Given the description of an element on the screen output the (x, y) to click on. 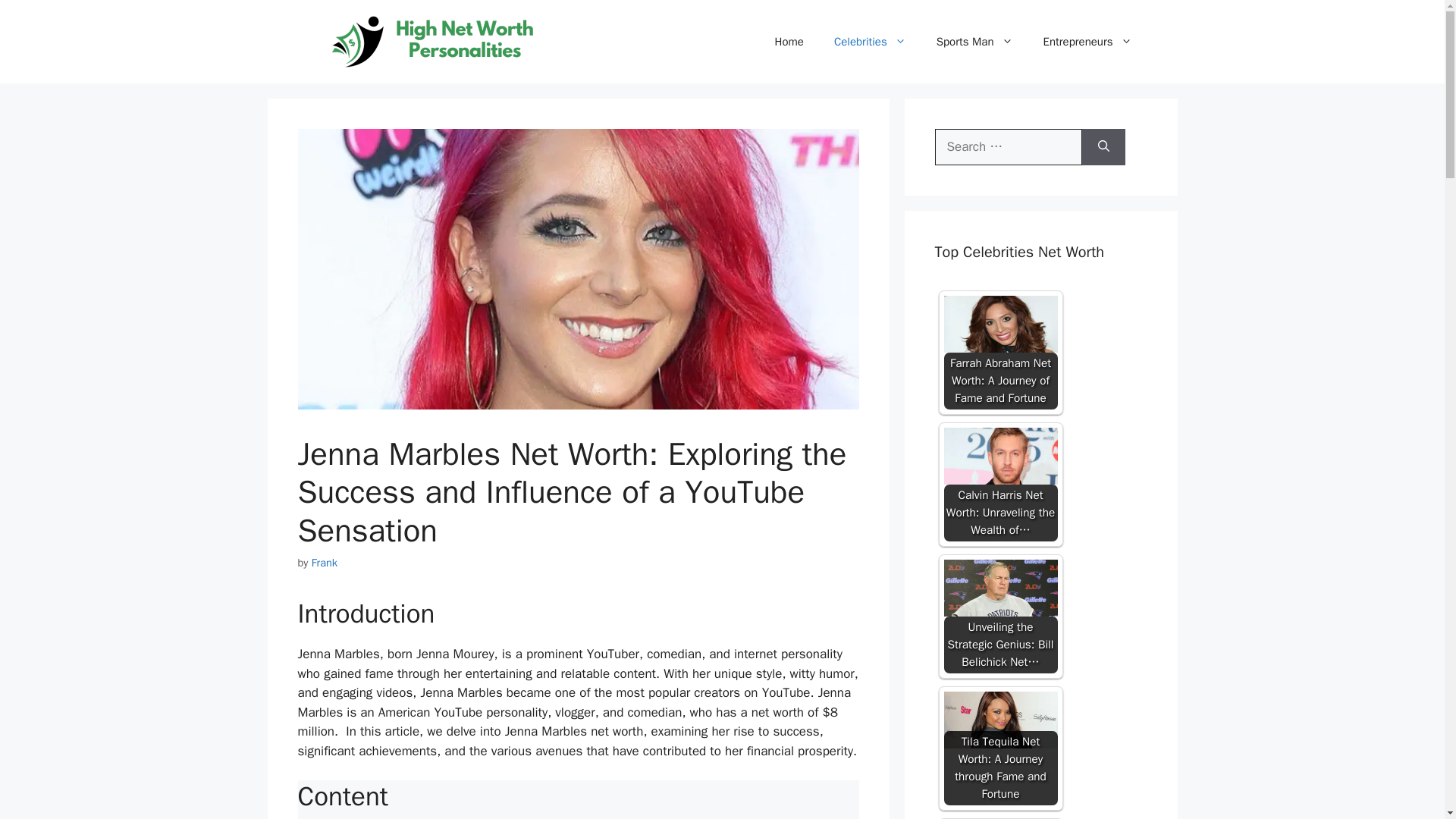
Sports Man (974, 41)
Celebrities (869, 41)
View all posts by Frank (324, 562)
Frank (324, 562)
Home (789, 41)
Entrepreneurs (1087, 41)
